Given the description of an element on the screen output the (x, y) to click on. 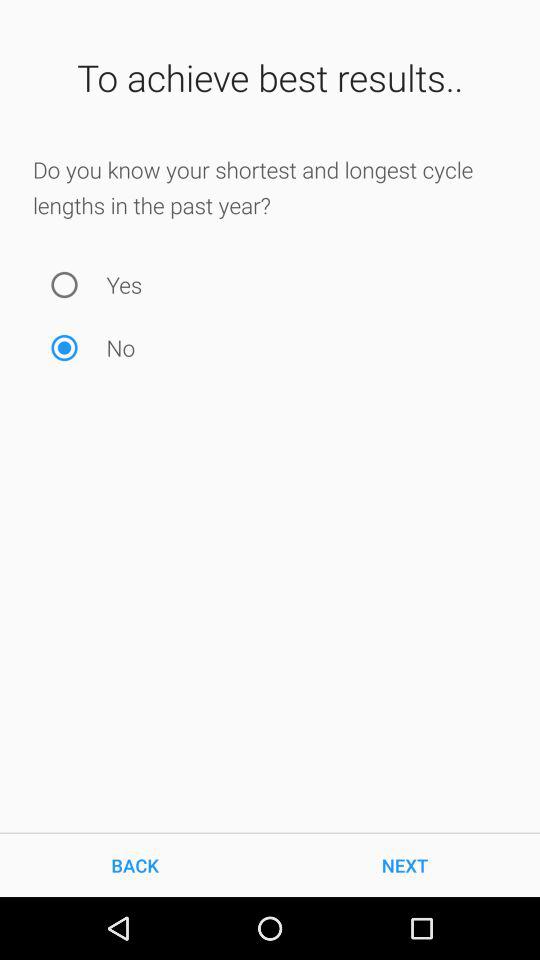
select no (64, 347)
